Given the description of an element on the screen output the (x, y) to click on. 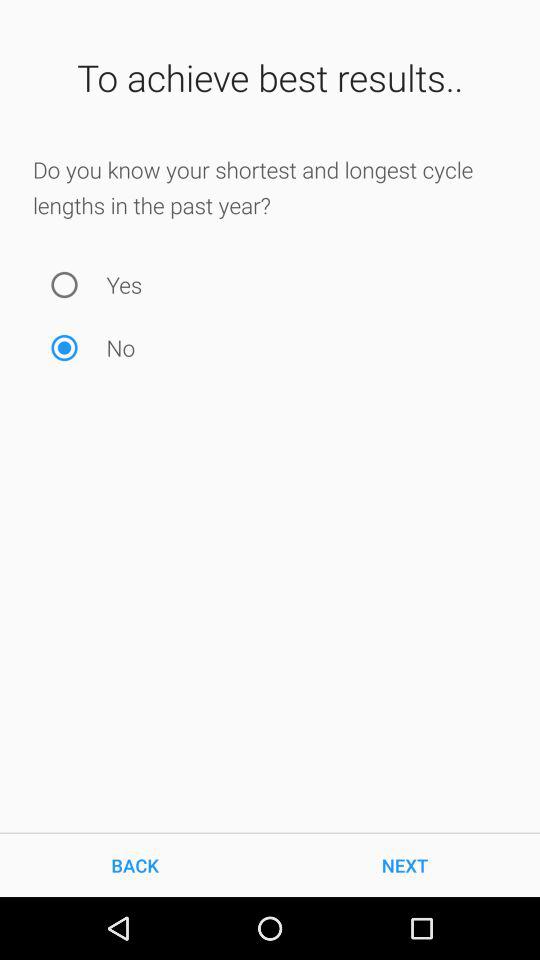
select no (64, 347)
